Given the description of an element on the screen output the (x, y) to click on. 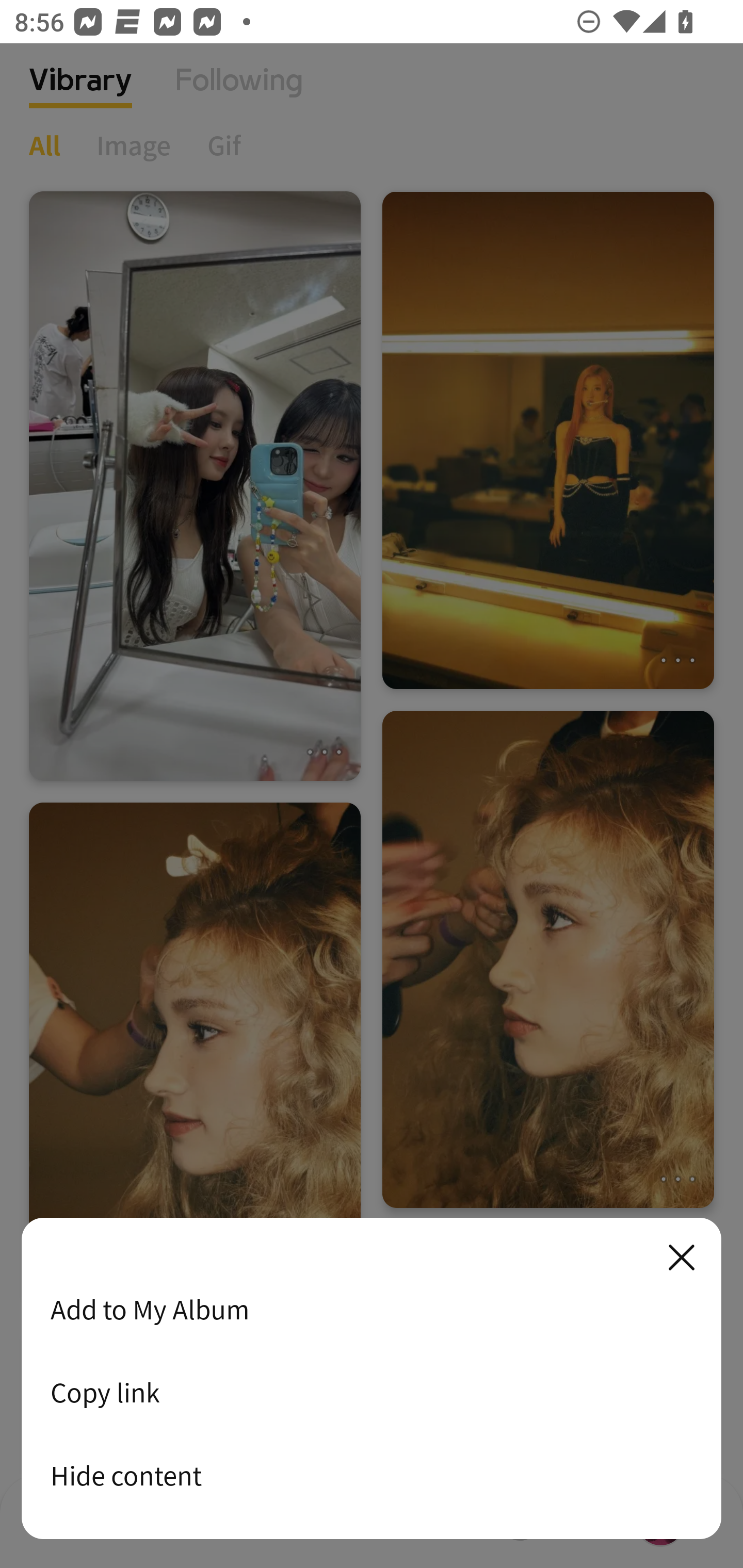
Add to My Album Copy link Hide content (371, 1378)
Add to My Album (371, 1308)
Copy link (371, 1391)
Hide content (371, 1474)
